Given the description of an element on the screen output the (x, y) to click on. 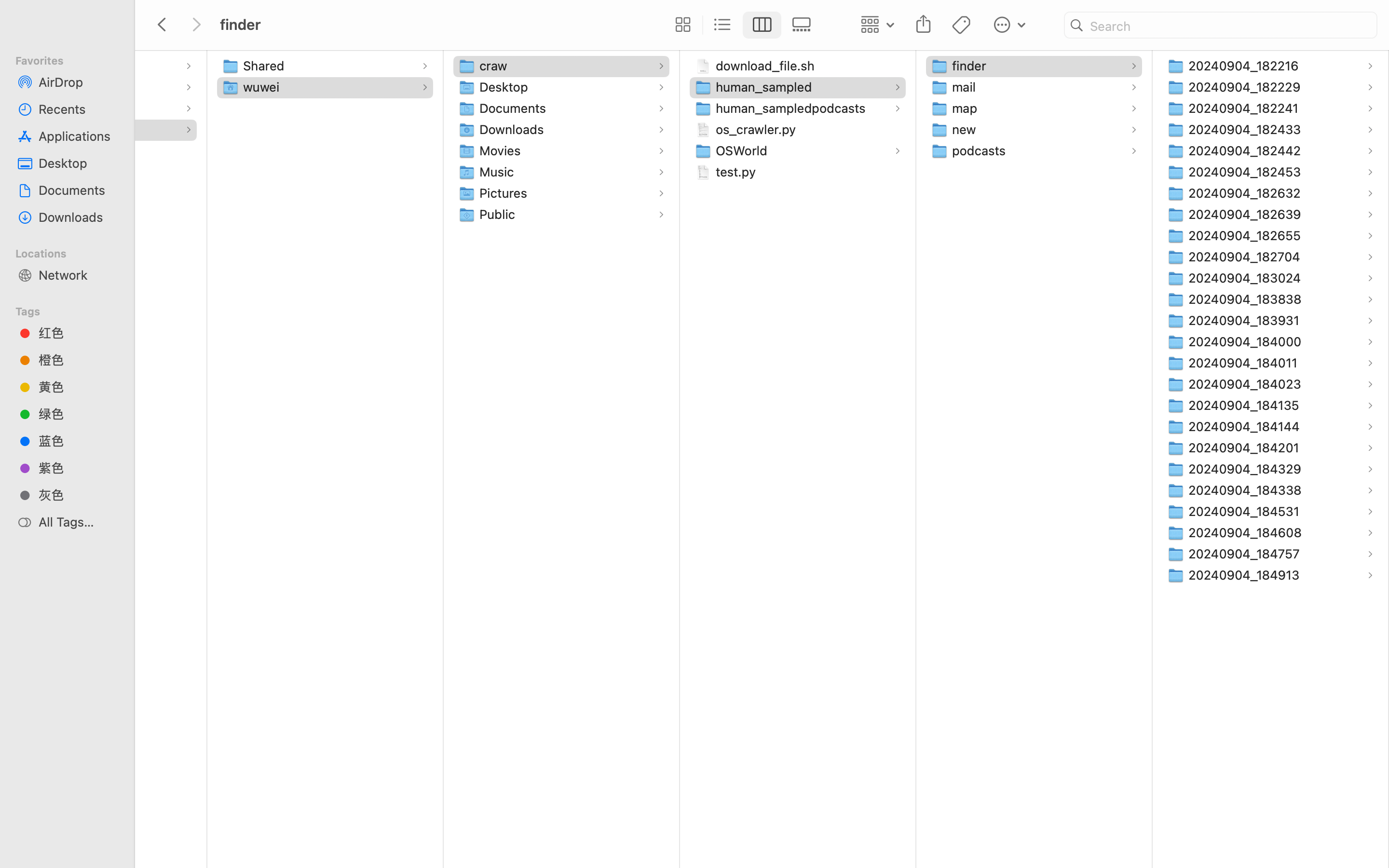
mail Element type: AXTextField (965, 86)
Desktop Element type: AXStaticText (77, 162)
Library Element type: AXTextField (29, 86)
20240904_183838 Element type: AXTextField (1246, 298)
Applications Element type: AXTextField (44, 65)
